Given the description of an element on the screen output the (x, y) to click on. 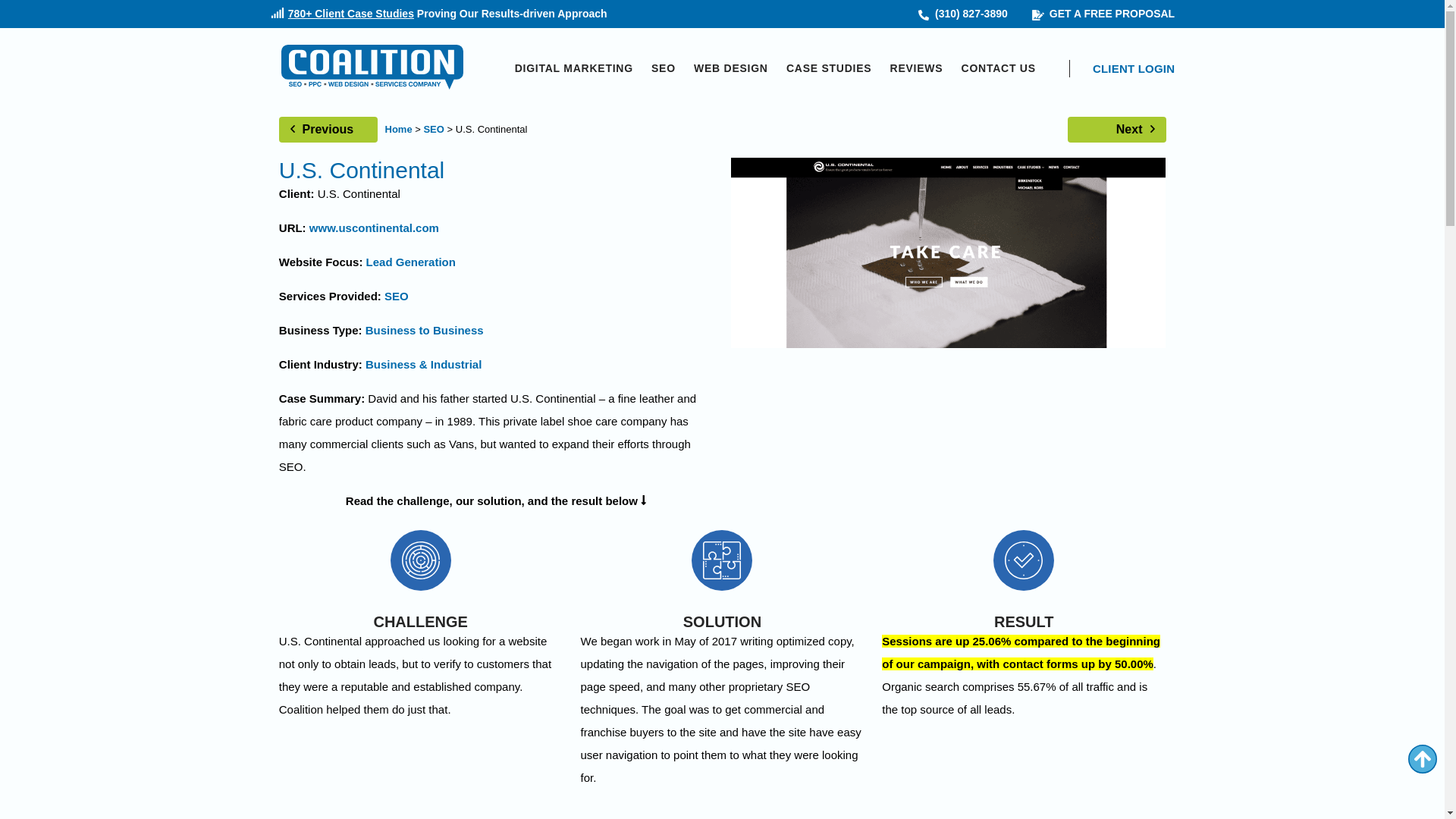
Coalition Technologies (372, 68)
GET A FREE PROPOSAL (1102, 13)
SEO (662, 67)
DIGITAL MARKETING (574, 67)
Digital Marketing (574, 67)
